Given the description of an element on the screen output the (x, y) to click on. 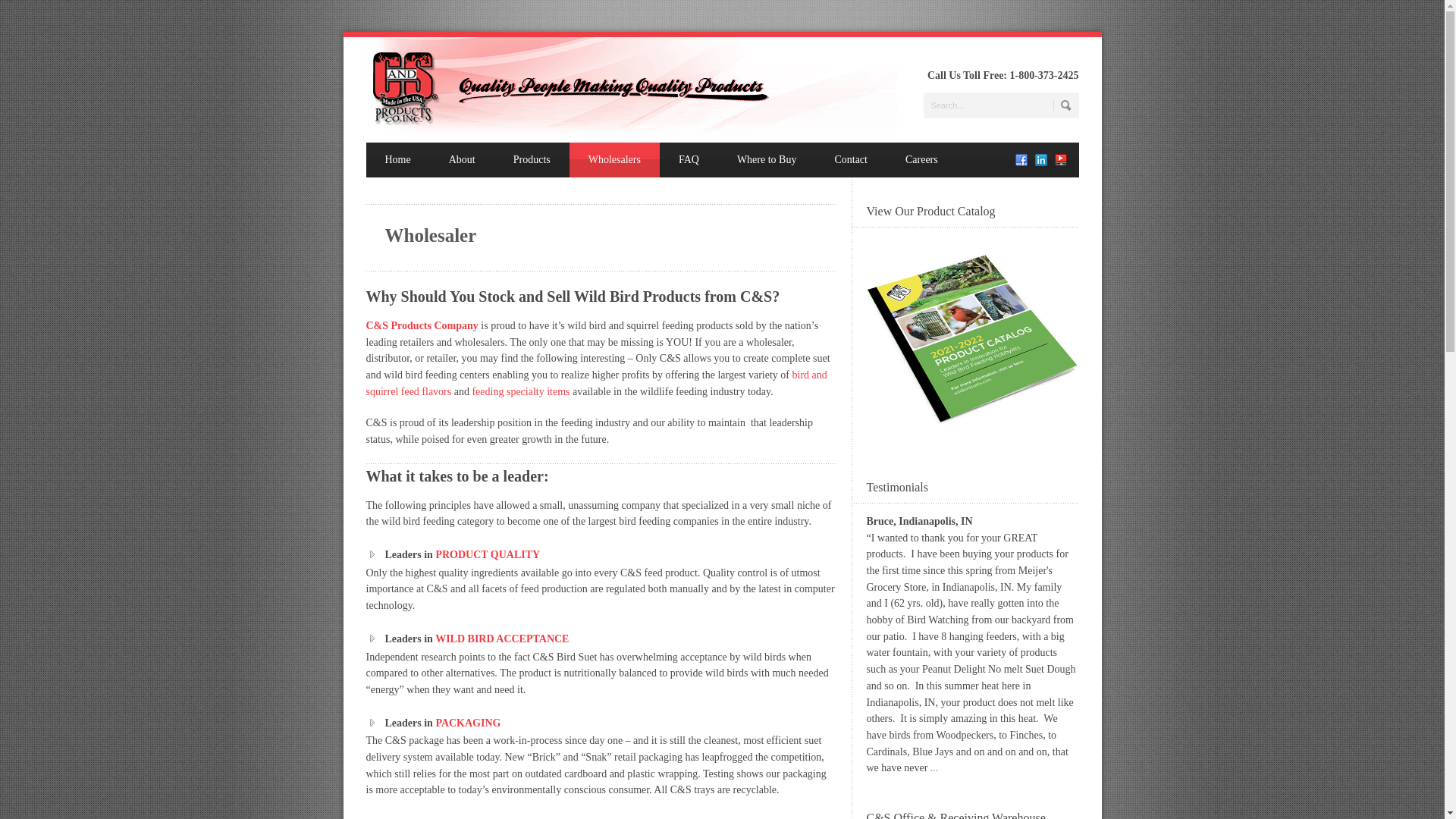
About (462, 159)
Products (532, 159)
View Our Product Catalog (972, 339)
feeding specialty items (520, 391)
Wholesalers (614, 159)
FAQ (688, 159)
Products (596, 383)
Search... (1000, 104)
Careers (921, 159)
Where to Buy (766, 159)
